Given the description of an element on the screen output the (x, y) to click on. 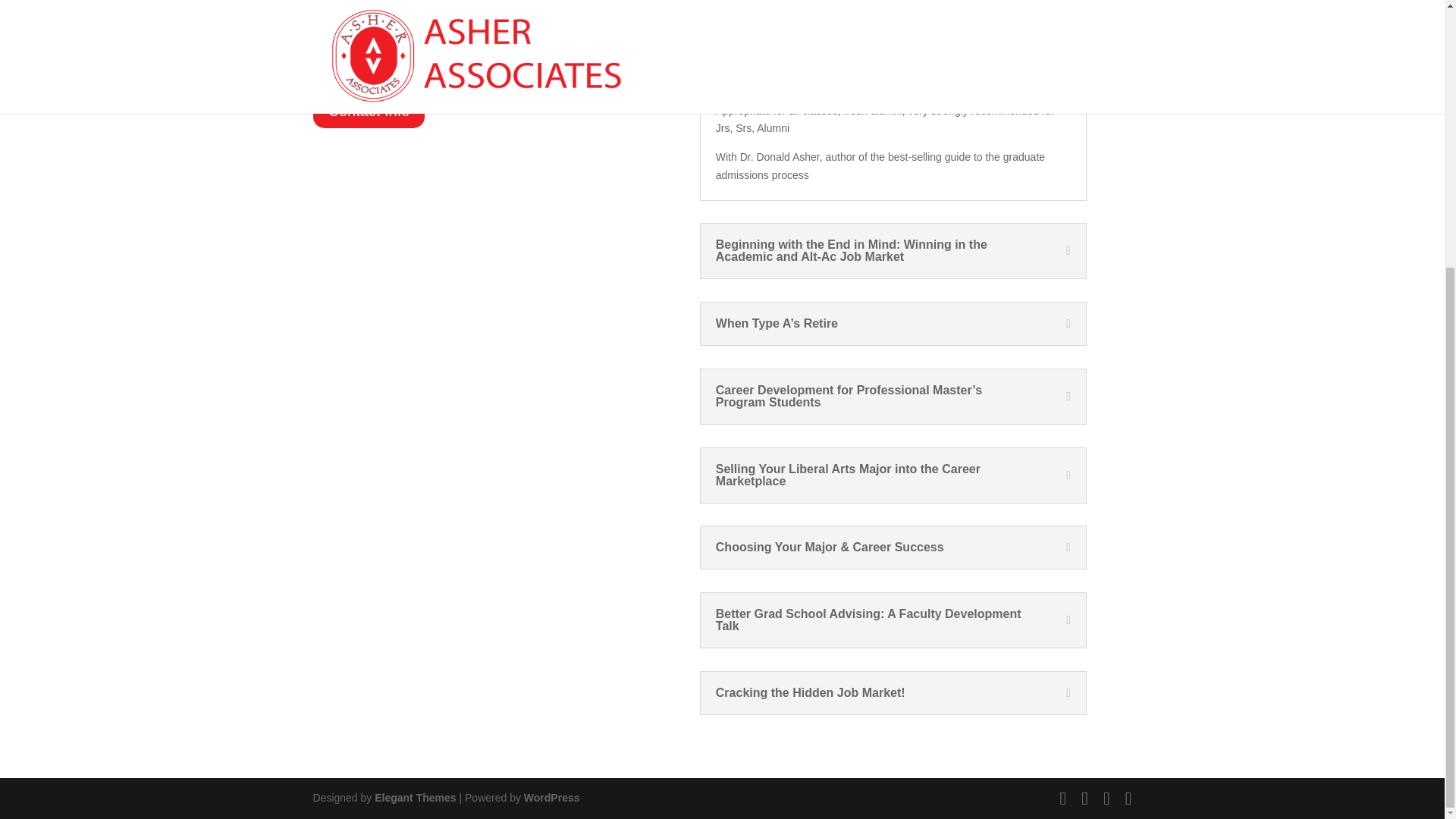
Elegant Themes (414, 797)
donald-asher (446, 35)
Premium WordPress Themes (414, 797)
Contact Info (369, 110)
WordPress (551, 797)
